Given the description of an element on the screen output the (x, y) to click on. 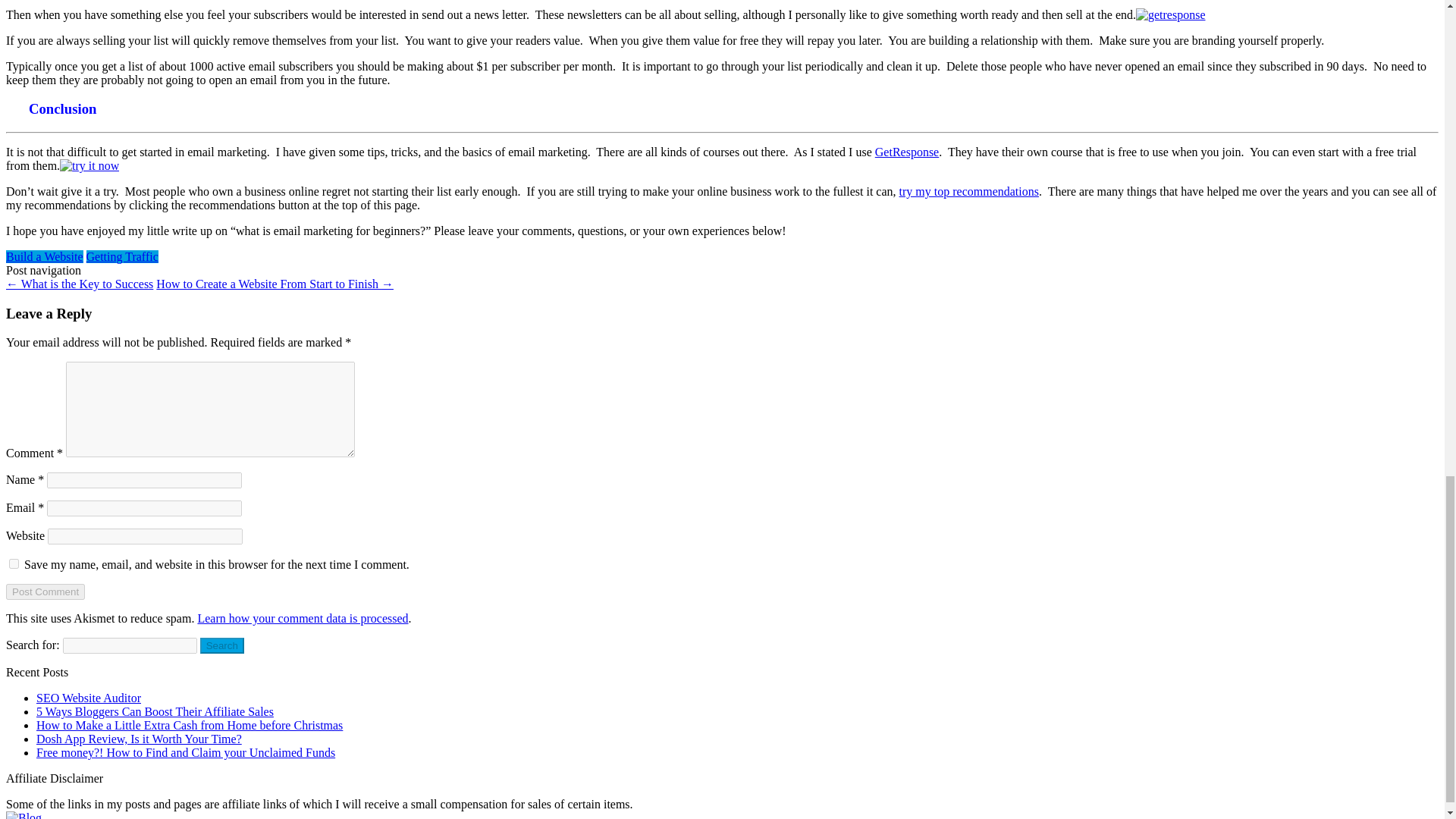
GetResponse (907, 151)
Dosh App Review, Is it Worth Your Time? (138, 738)
How to Make a Little Extra Cash from Home before Christmas (189, 725)
Build a Website (43, 256)
Getting Traffic (121, 256)
Post Comment (44, 591)
SEO Website Auditor (88, 697)
5 Ways Bloggers Can Boost Their Affiliate Sales (154, 711)
yes (13, 563)
Learn how your comment data is processed (301, 617)
